Given the description of an element on the screen output the (x, y) to click on. 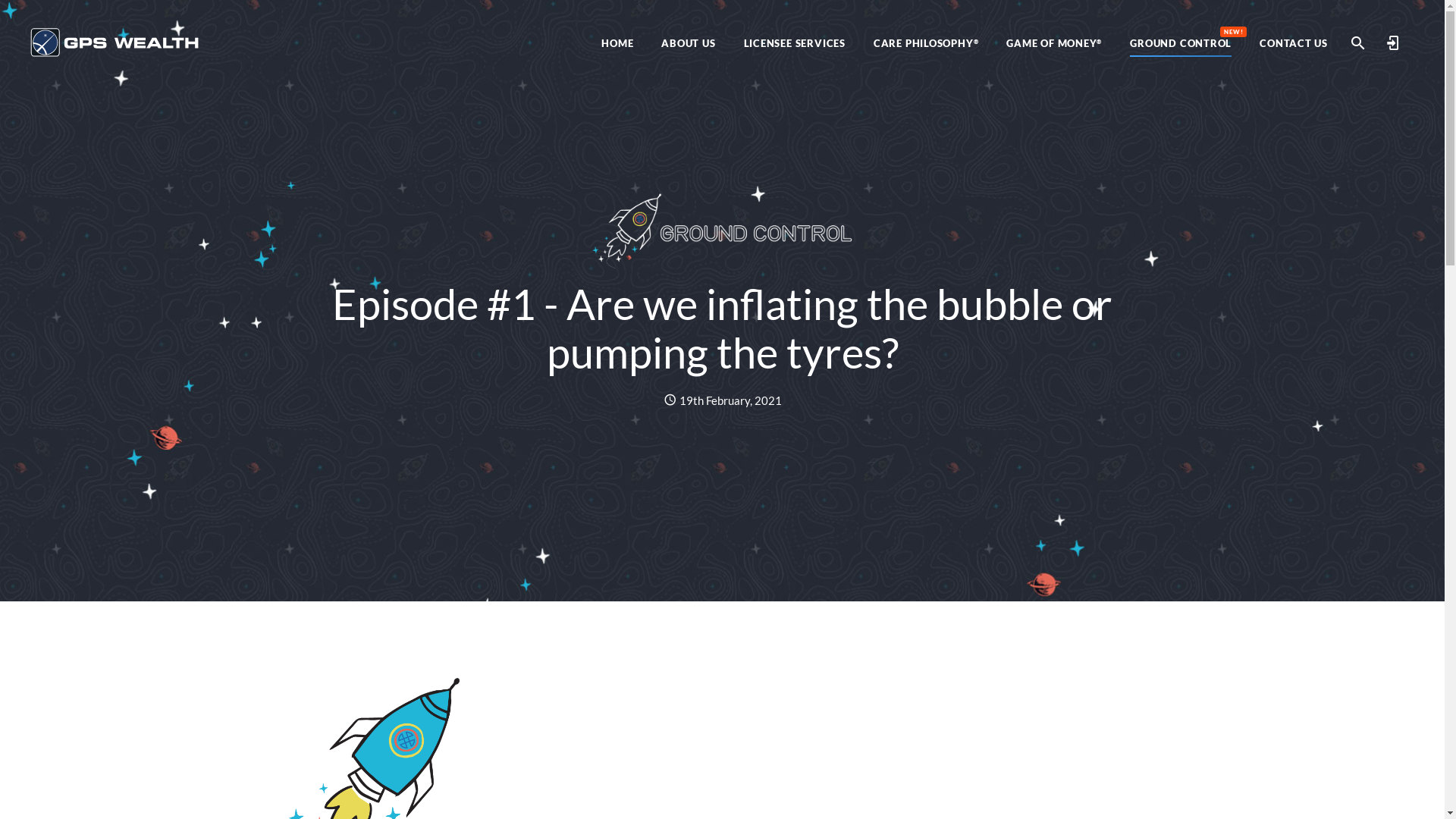
CONTACT US Element type: text (1293, 43)
HOME Element type: text (617, 43)
GROUND CONTROL
NEW! Element type: text (1180, 43)
ABOUT US Element type: text (688, 43)
LICENSEE SERVICES Element type: text (794, 43)
